Given the description of an element on the screen output the (x, y) to click on. 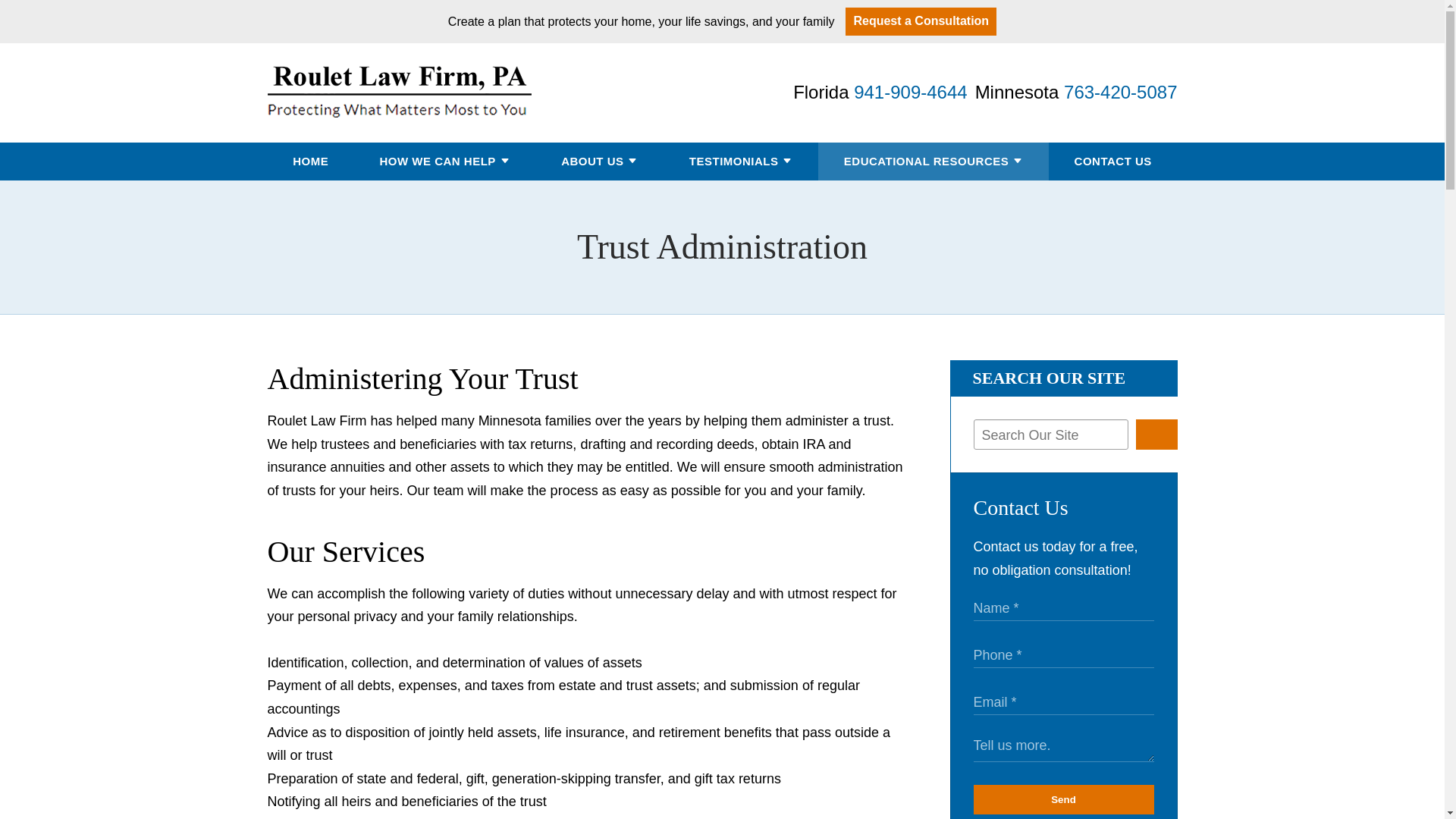
call tollfree (1120, 91)
call tollfree (909, 91)
941-909-4644 (909, 91)
HOW WE CAN HELP (436, 161)
Request a Consultation (920, 21)
763-420-5087 (1120, 91)
HOME (310, 161)
CONTACT US (1112, 161)
ABOUT US (591, 161)
EDUCATIONAL RESOURCES (926, 161)
